Given the description of an element on the screen output the (x, y) to click on. 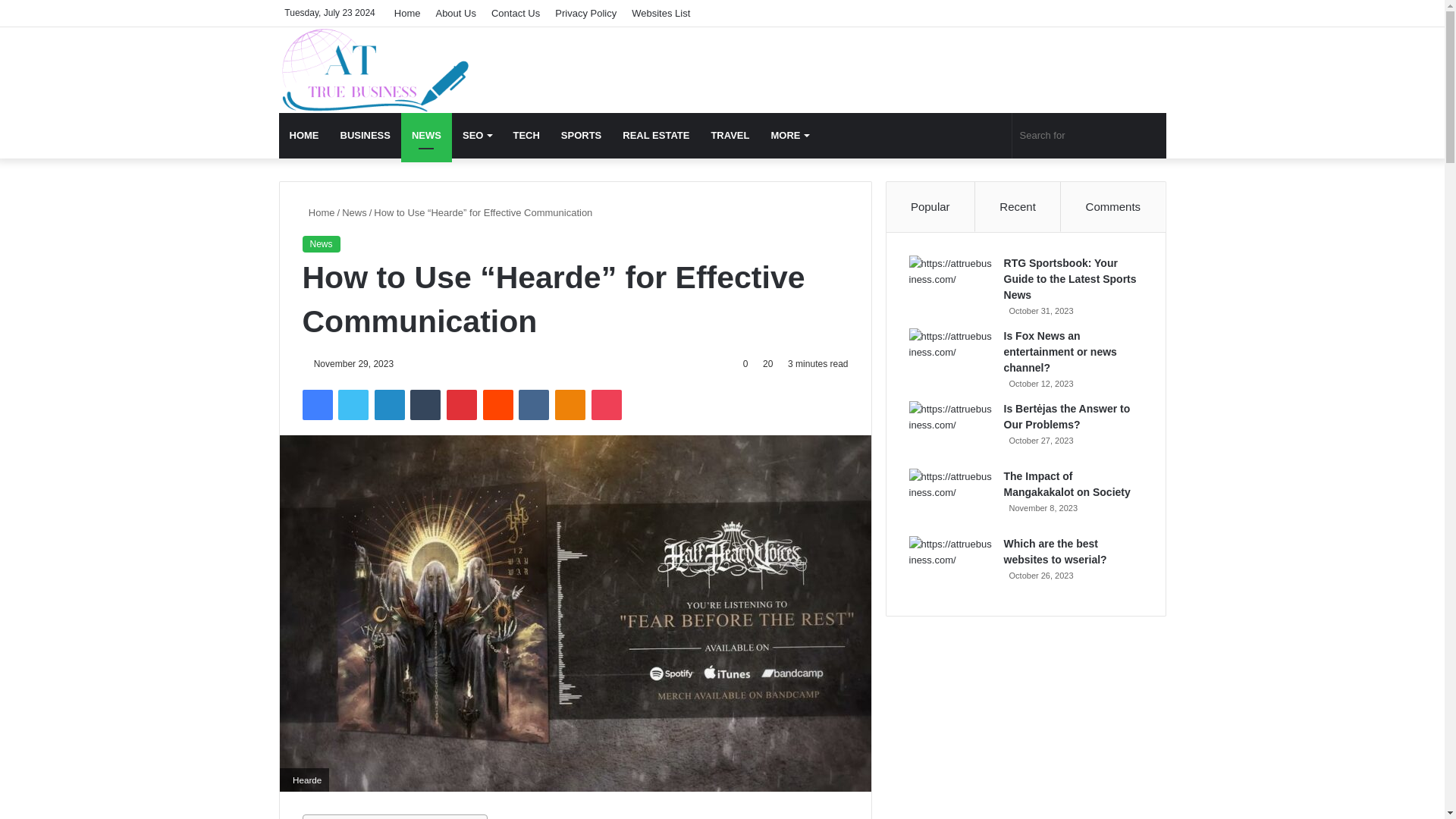
TRAVEL (730, 135)
LinkedIn (389, 404)
Search for (1088, 135)
Twitter (352, 404)
Pocket (606, 404)
Buy now! (585, 13)
SPORTS (580, 135)
NEWS (426, 135)
News (354, 212)
At True Business (375, 69)
REAL ESTATE (655, 135)
Websites List (660, 13)
Tumblr (425, 404)
News (320, 243)
SEO (476, 135)
